Given the description of an element on the screen output the (x, y) to click on. 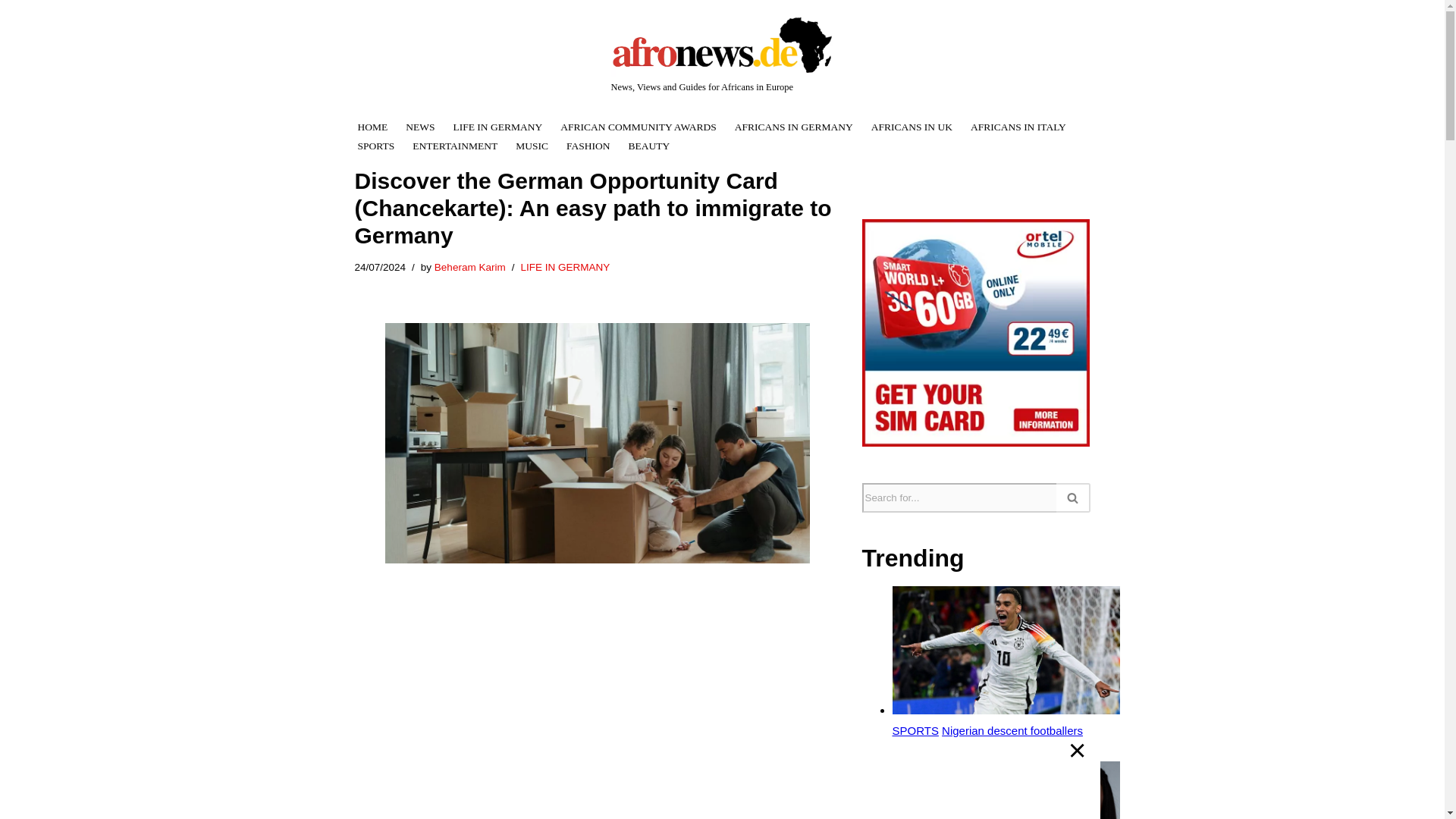
BEAUTY (648, 145)
NEWS (419, 126)
Life in Germany (398, 809)
HOME (373, 126)
ENTERTAINMENT (454, 145)
LIFE IN GERMANY (564, 266)
AFRICANS IN UK (911, 126)
FASHION (588, 145)
SPORTS (376, 145)
AFRICAN COMMUNITY AWARDS (638, 126)
